Given the description of an element on the screen output the (x, y) to click on. 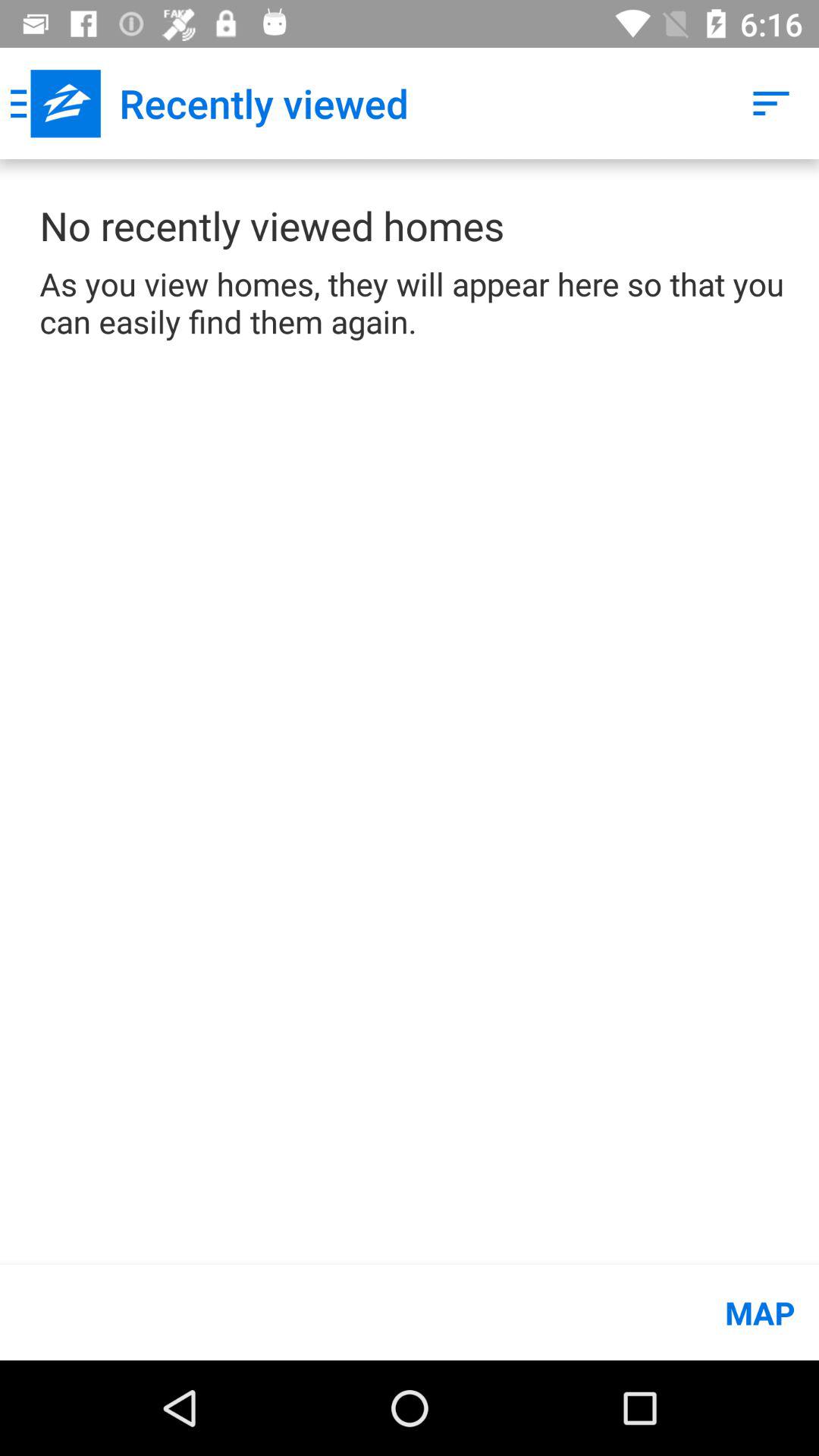
launch the icon above as you view item (771, 103)
